Given the description of an element on the screen output the (x, y) to click on. 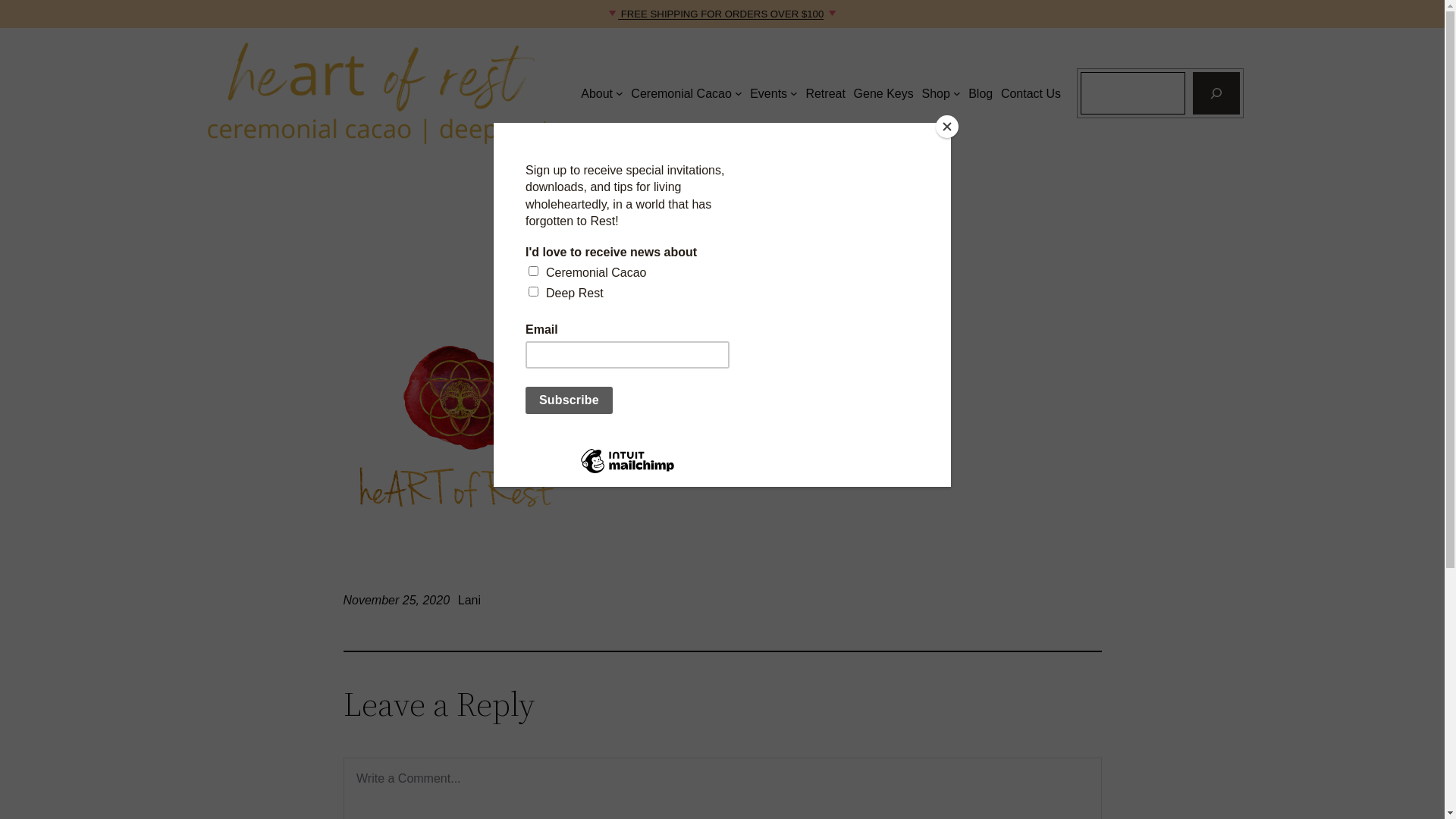
Blog Element type: text (980, 93)
Shop Element type: text (935, 93)
About Element type: text (596, 93)
Ceremonial Cacao Element type: text (680, 93)
Contact Us Element type: text (1030, 93)
Retreat Element type: text (824, 93)
FREE SHIPPING FOR ORDERS OVER $100 Element type: text (720, 13)
Gene Keys Element type: text (883, 93)
Events Element type: text (768, 93)
